Given the description of an element on the screen output the (x, y) to click on. 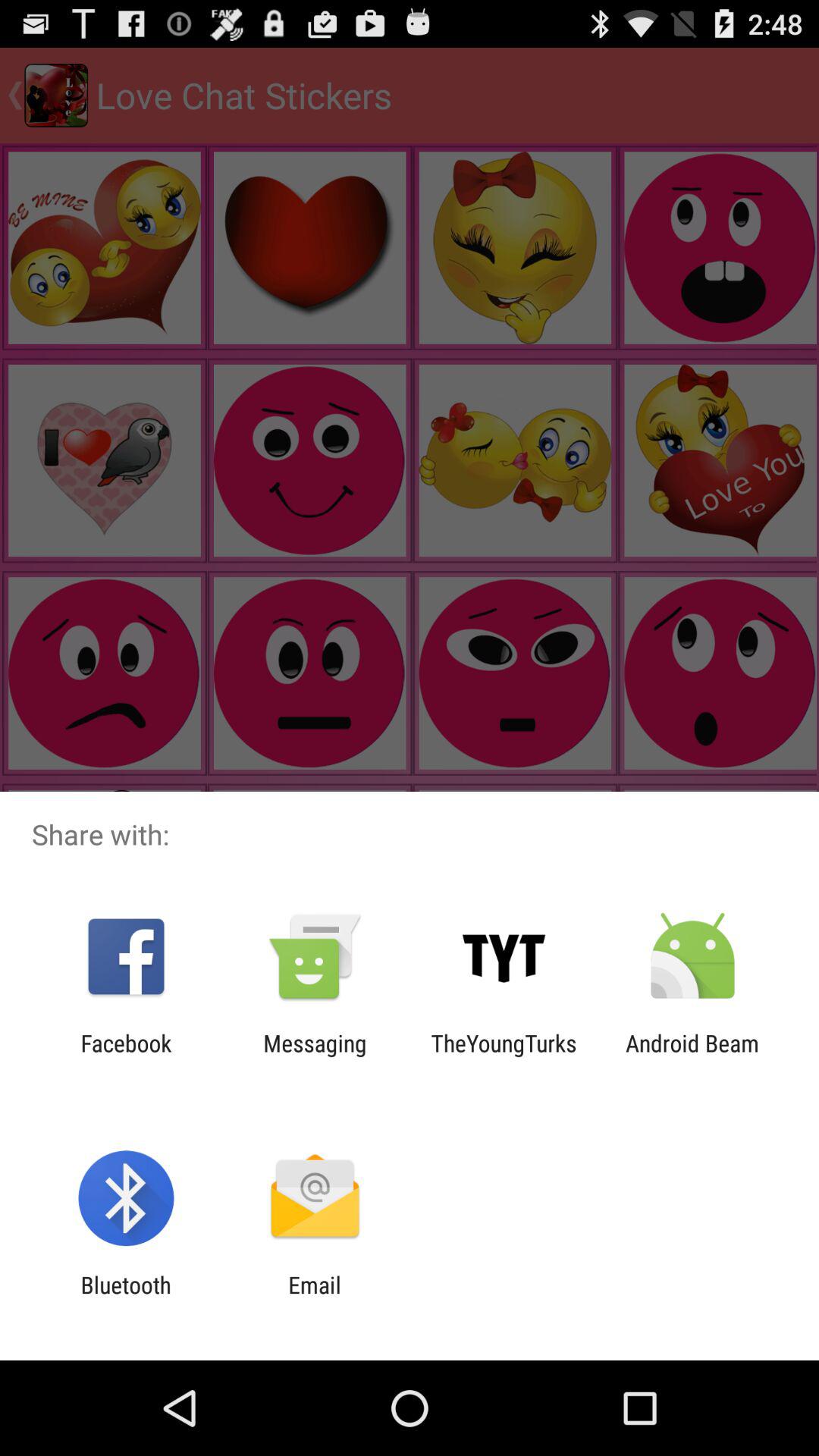
press icon next to the theyoungturks item (692, 1056)
